Given the description of an element on the screen output the (x, y) to click on. 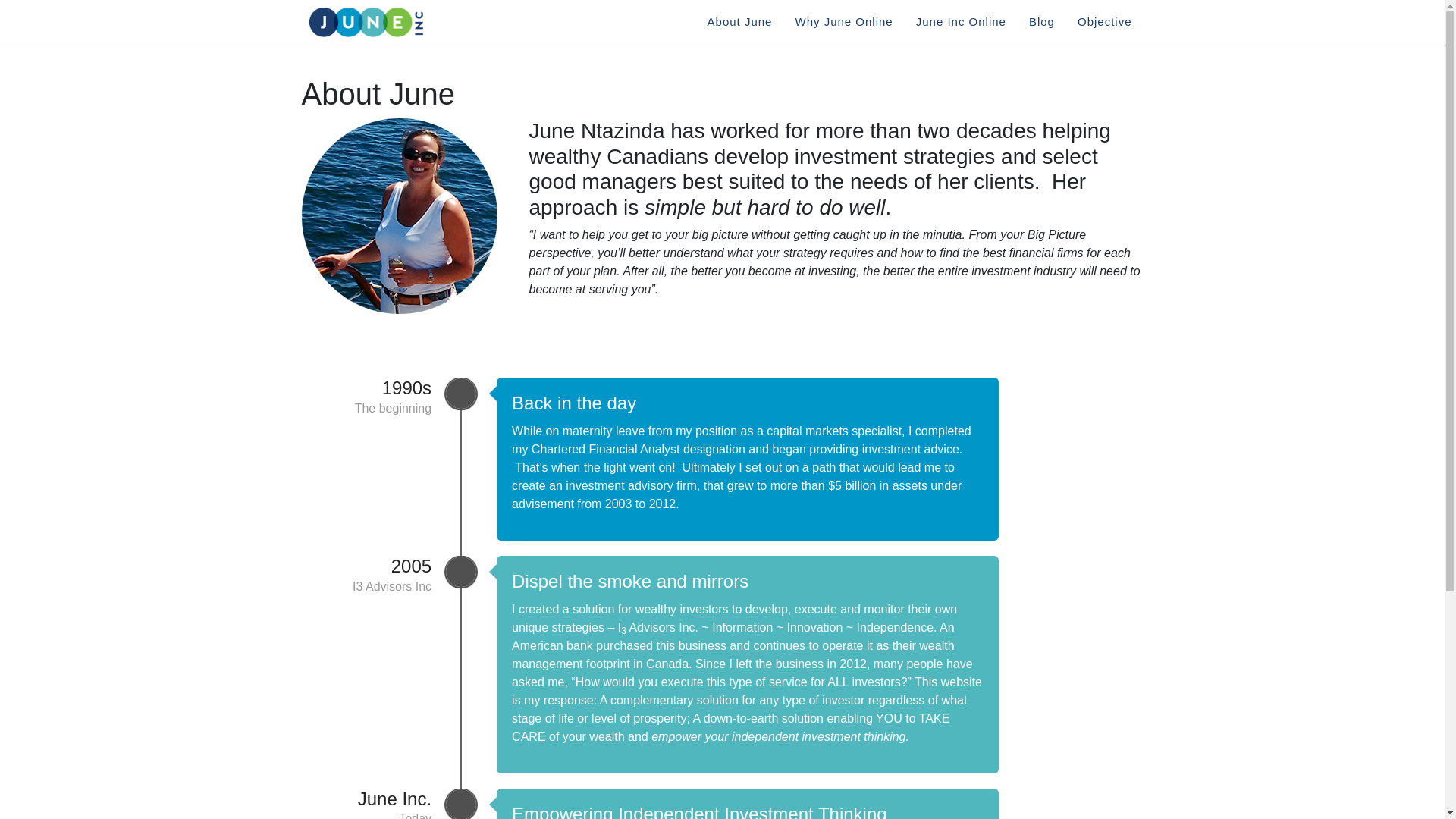
About June (739, 22)
June Inc Online (961, 22)
Why June Online (843, 22)
Objective (1104, 22)
